Given the description of an element on the screen output the (x, y) to click on. 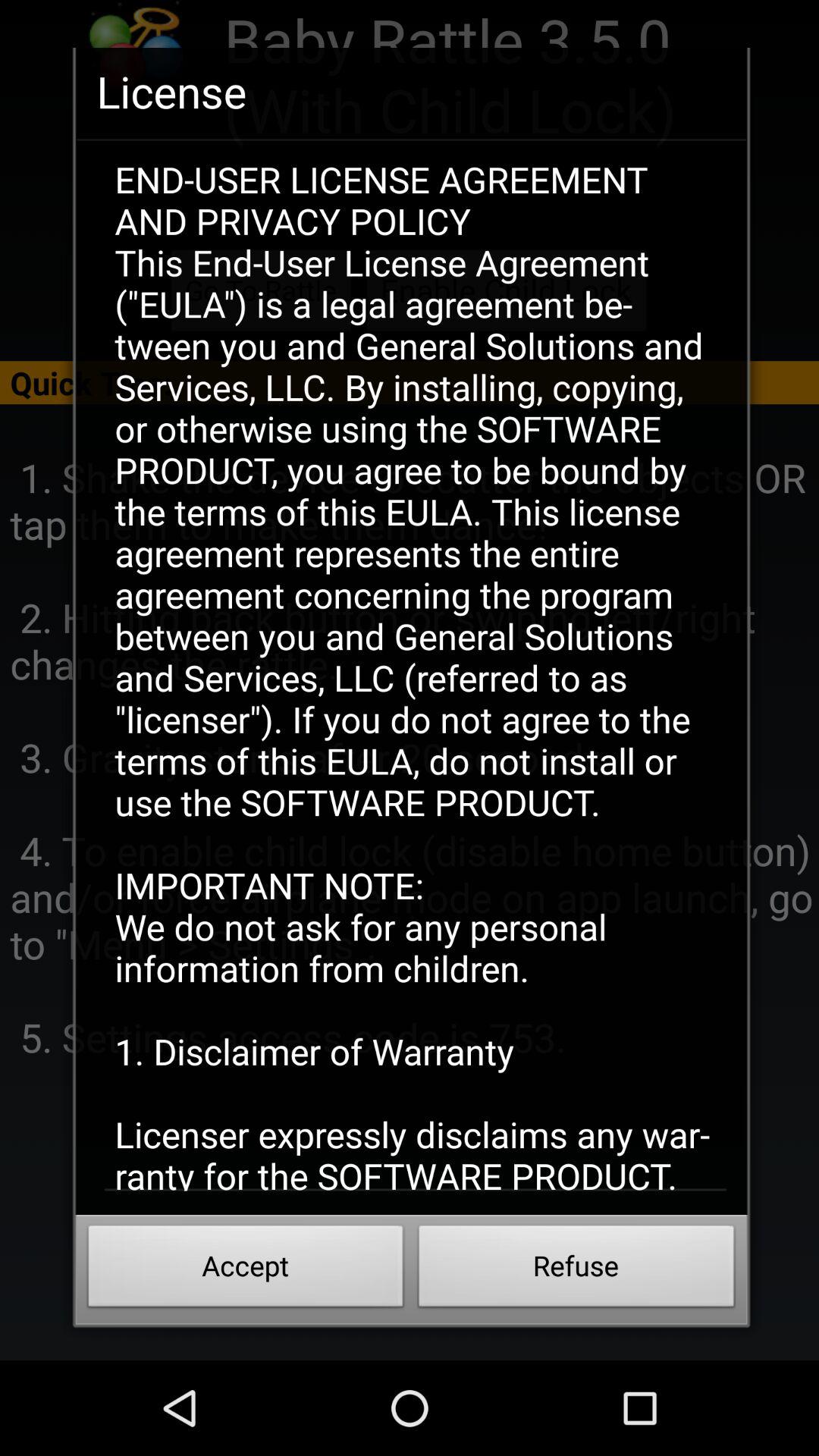
open the item to the right of the accept icon (576, 1270)
